Given the description of an element on the screen output the (x, y) to click on. 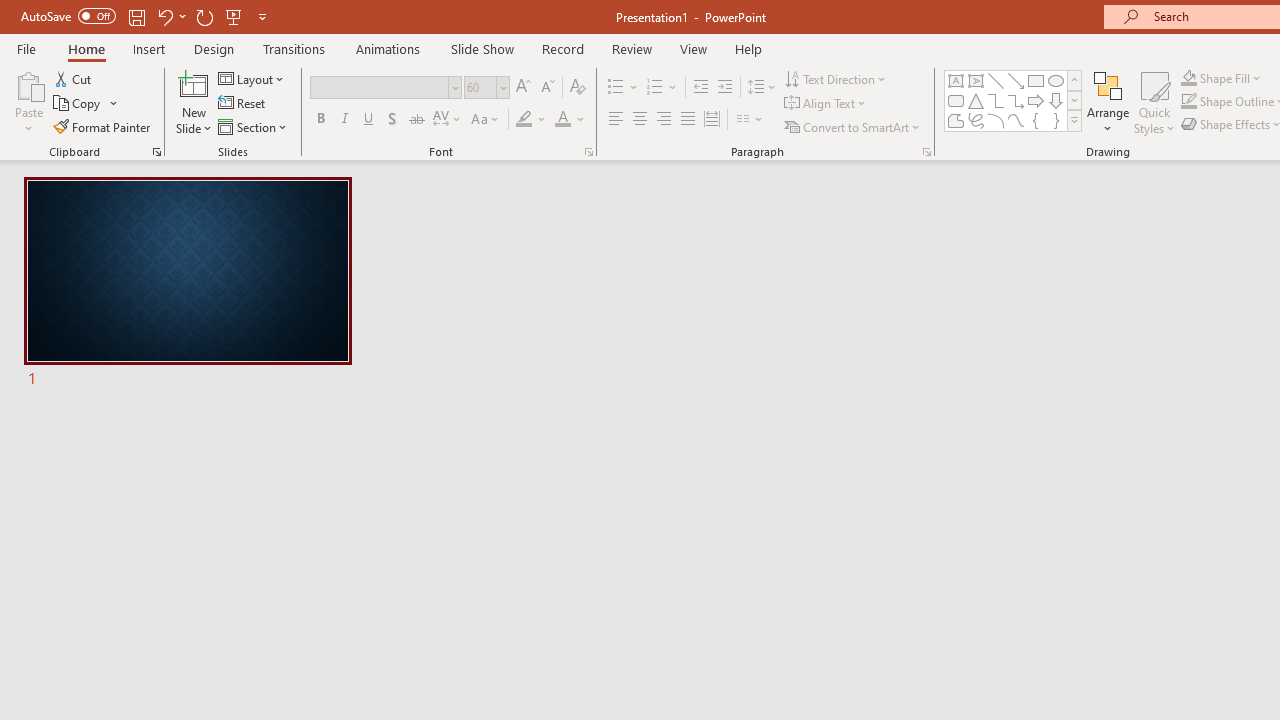
Shadow (392, 119)
Left Brace (1035, 120)
Decrease Indent (700, 87)
Right Brace (1055, 120)
Text Box (955, 80)
Justify (687, 119)
Underline (369, 119)
Align Right (663, 119)
Freeform: Shape (955, 120)
Text Highlight Color Yellow (524, 119)
Shape Fill (1221, 78)
